Given the description of an element on the screen output the (x, y) to click on. 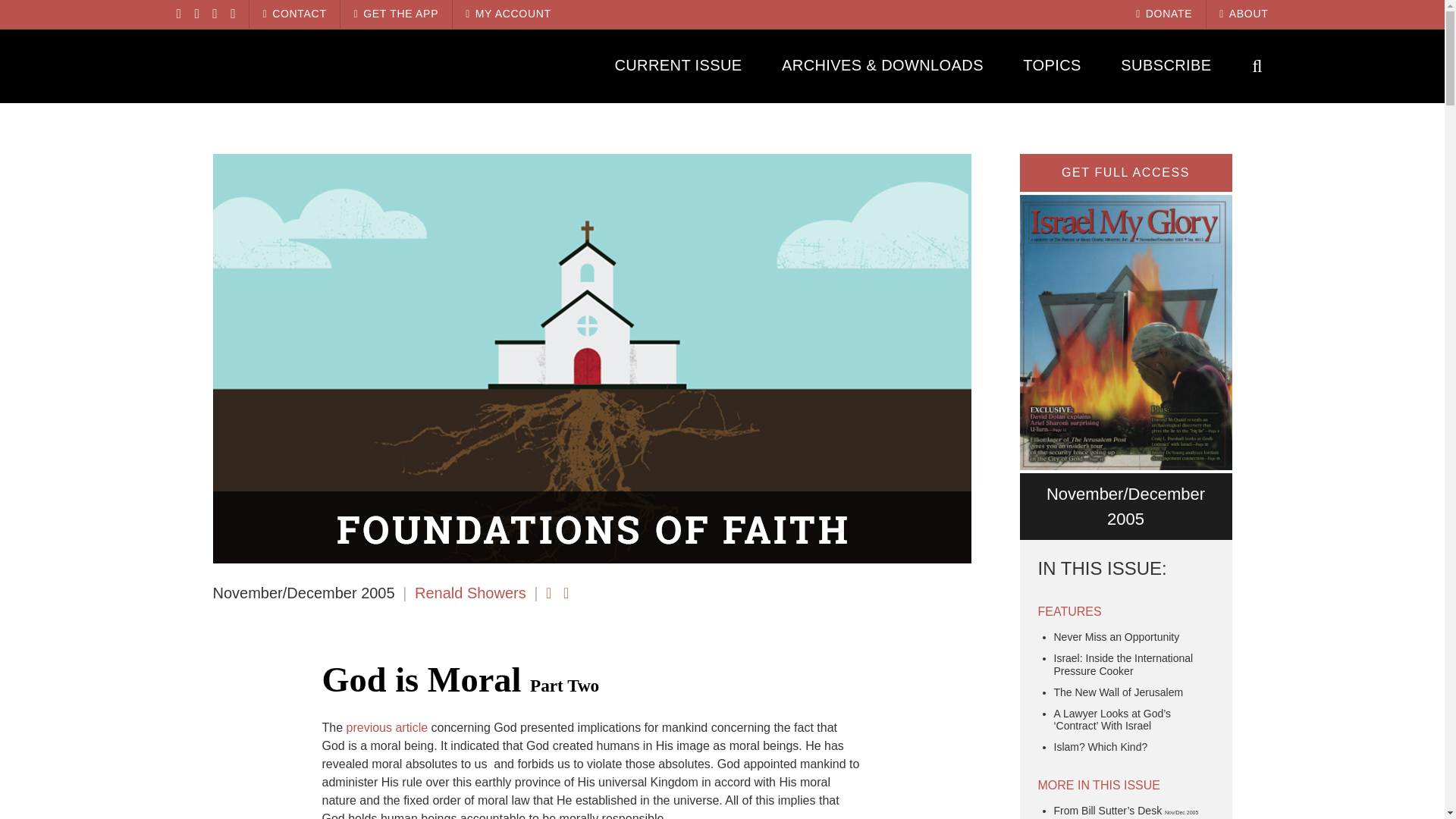
CURRENT ISSUE (677, 65)
Renald Showers (469, 592)
CONTACT (294, 13)
Israel My Glory (309, 65)
GET THE APP (396, 13)
ABOUT (1244, 13)
TOPICS (1052, 65)
DONATE (1163, 13)
previous article (387, 727)
MY ACCOUNT (508, 13)
SUBSCRIBE (1166, 65)
